Given the description of an element on the screen output the (x, y) to click on. 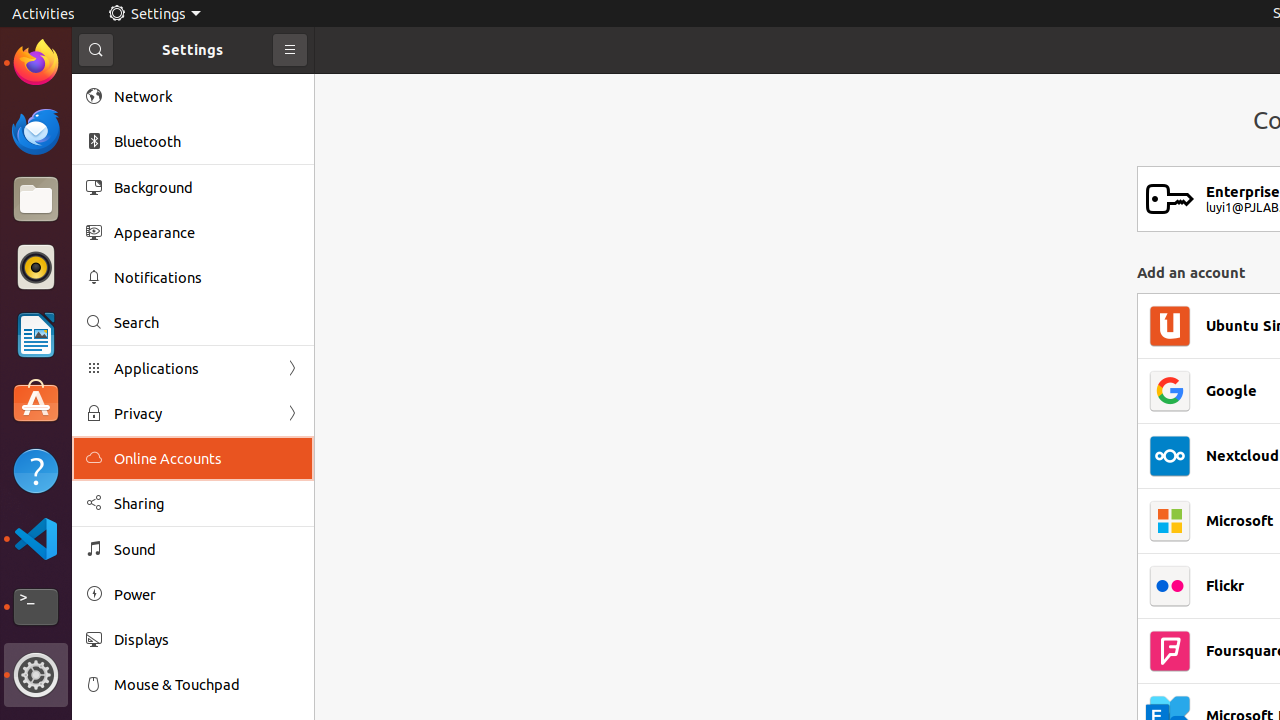
Privacy Element type: label (193, 413)
Google Element type: label (1231, 391)
Sharing Element type: label (207, 503)
Appearance Element type: label (207, 232)
Background Element type: label (207, 187)
